Given the description of an element on the screen output the (x, y) to click on. 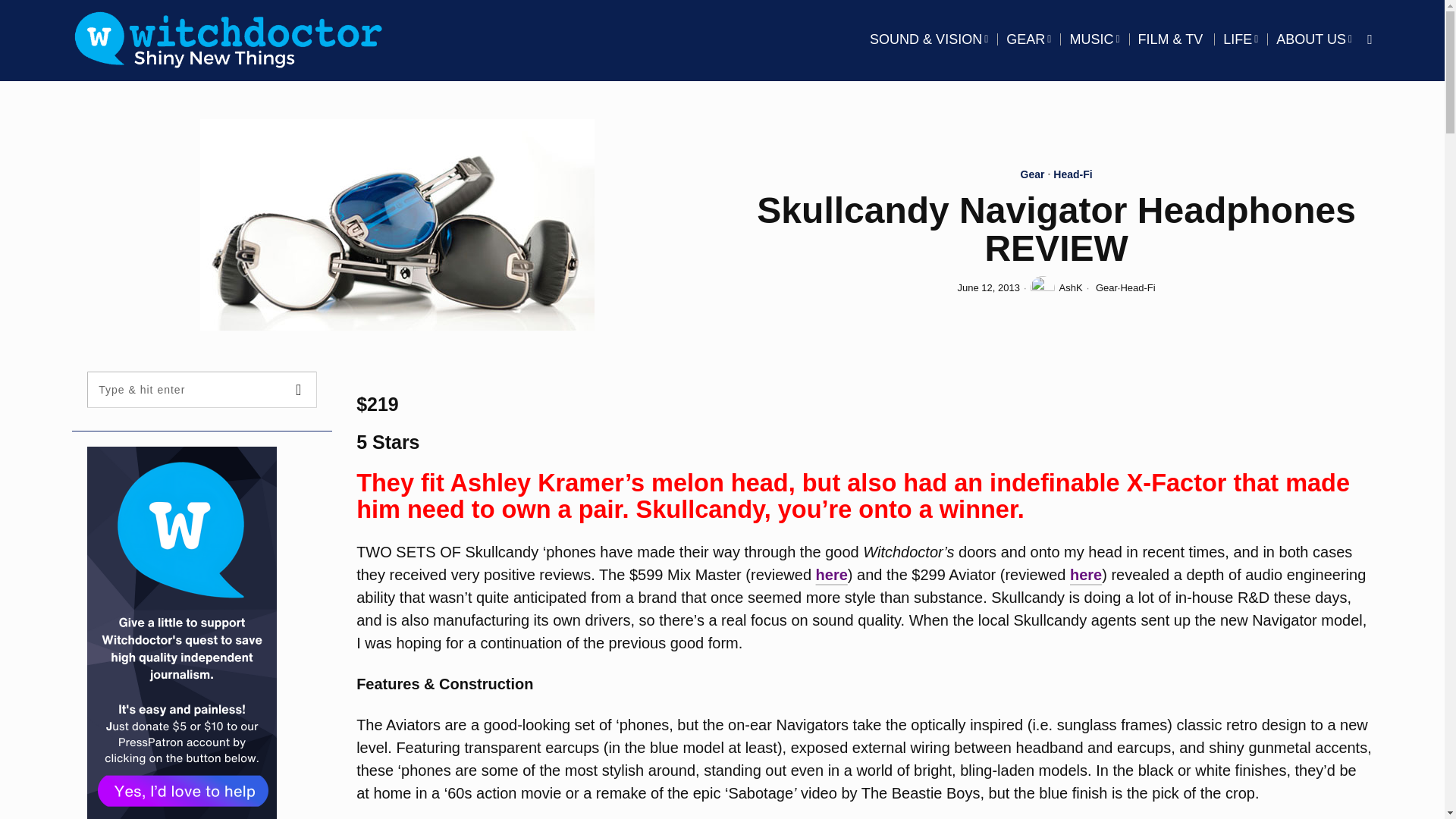
12 Jun, 2013 19:57:37 (989, 287)
Head-Fi (1136, 287)
AshK (1056, 288)
MUSIC (1093, 39)
here (831, 574)
Gear (1107, 287)
GEAR (1028, 39)
Go (299, 389)
Gear (1032, 175)
Head-Fi (1072, 175)
